Given the description of an element on the screen output the (x, y) to click on. 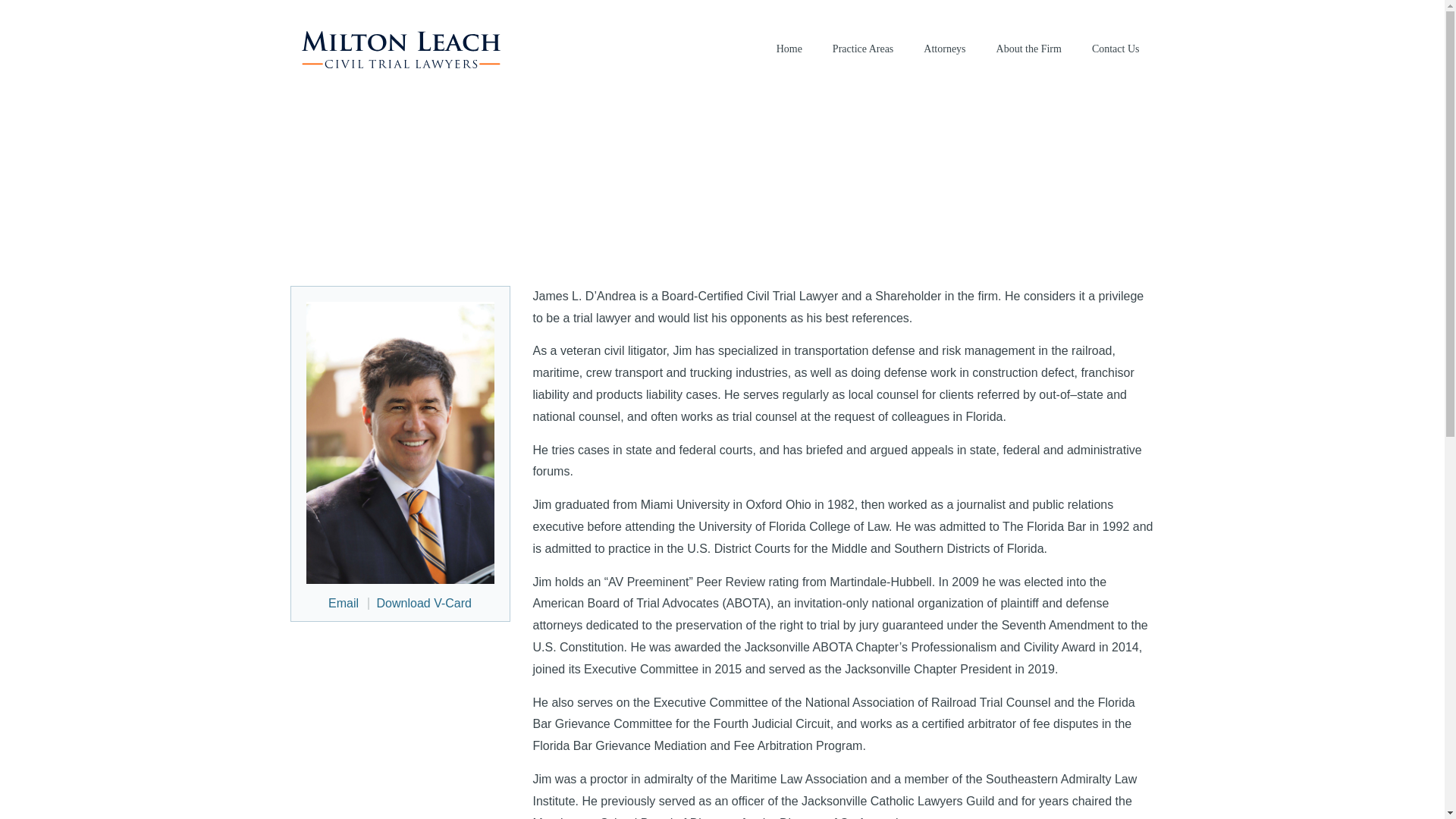
Practice Areas (862, 49)
Home (789, 49)
About the Firm (1028, 49)
Attorneys (944, 49)
About the Firm (1028, 49)
Home (789, 49)
Download V-Card (419, 603)
Contact Us (1114, 49)
Email (343, 603)
Contact Us (1114, 49)
